Given the description of an element on the screen output the (x, y) to click on. 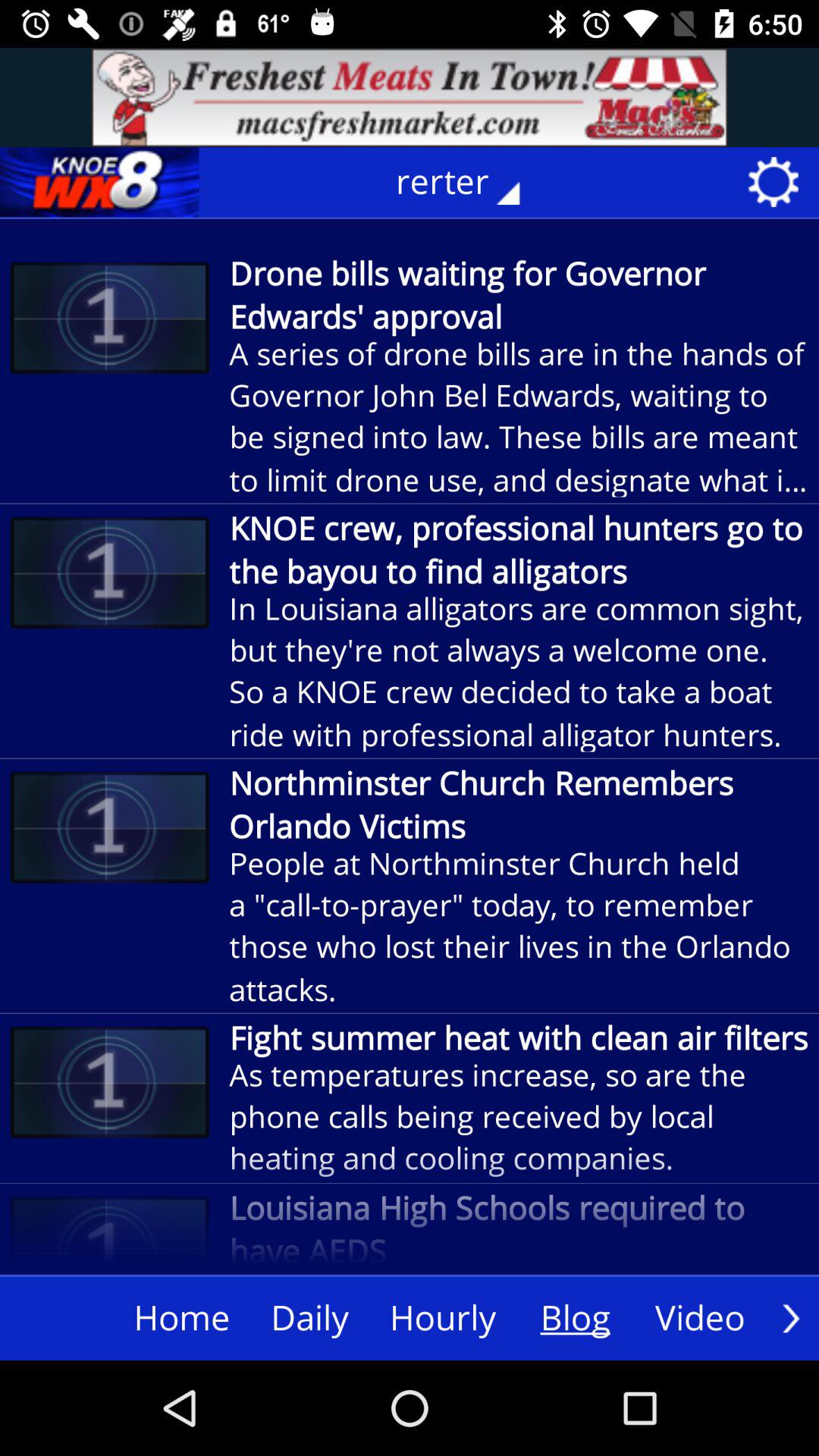
go to home page (99, 182)
